Given the description of an element on the screen output the (x, y) to click on. 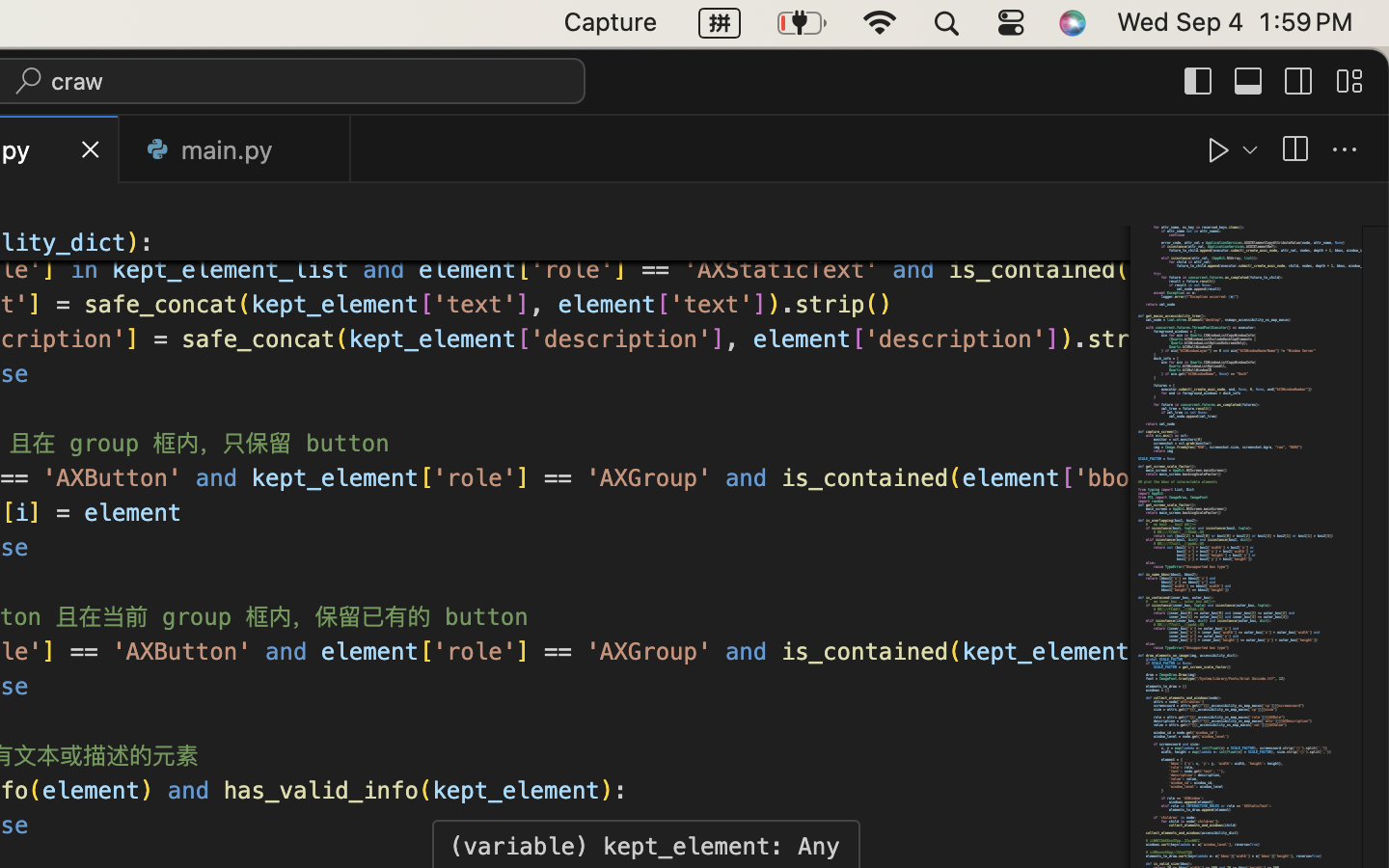
 Element type: AXButton (1219, 150)
craw Element type: AXStaticText (78, 80)
 Element type: AXCheckBox (1248, 80)
 Element type: AXCheckBox (1299, 80)
